Given the description of an element on the screen output the (x, y) to click on. 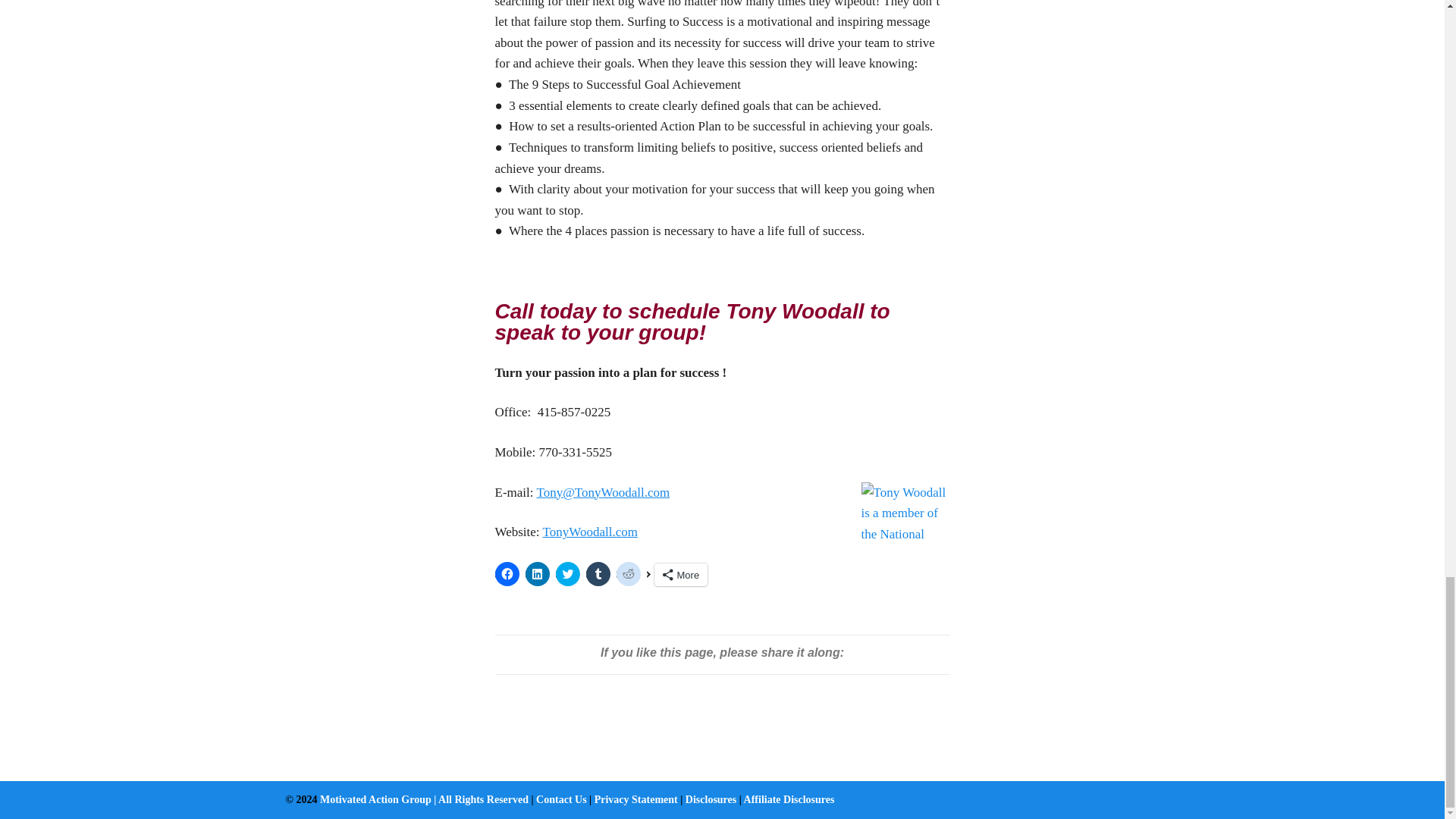
Click to share on Facebook (506, 573)
Click to share on Twitter (566, 573)
Privacy Statement (636, 799)
Click to share on Tumblr (597, 573)
Disclosures (710, 799)
More (680, 574)
Affiliate Disclosures (789, 799)
Click to share on Reddit (627, 573)
TonyWoodall.com (590, 531)
Click to share on LinkedIn (536, 573)
Contact Us (560, 799)
